Given the description of an element on the screen output the (x, y) to click on. 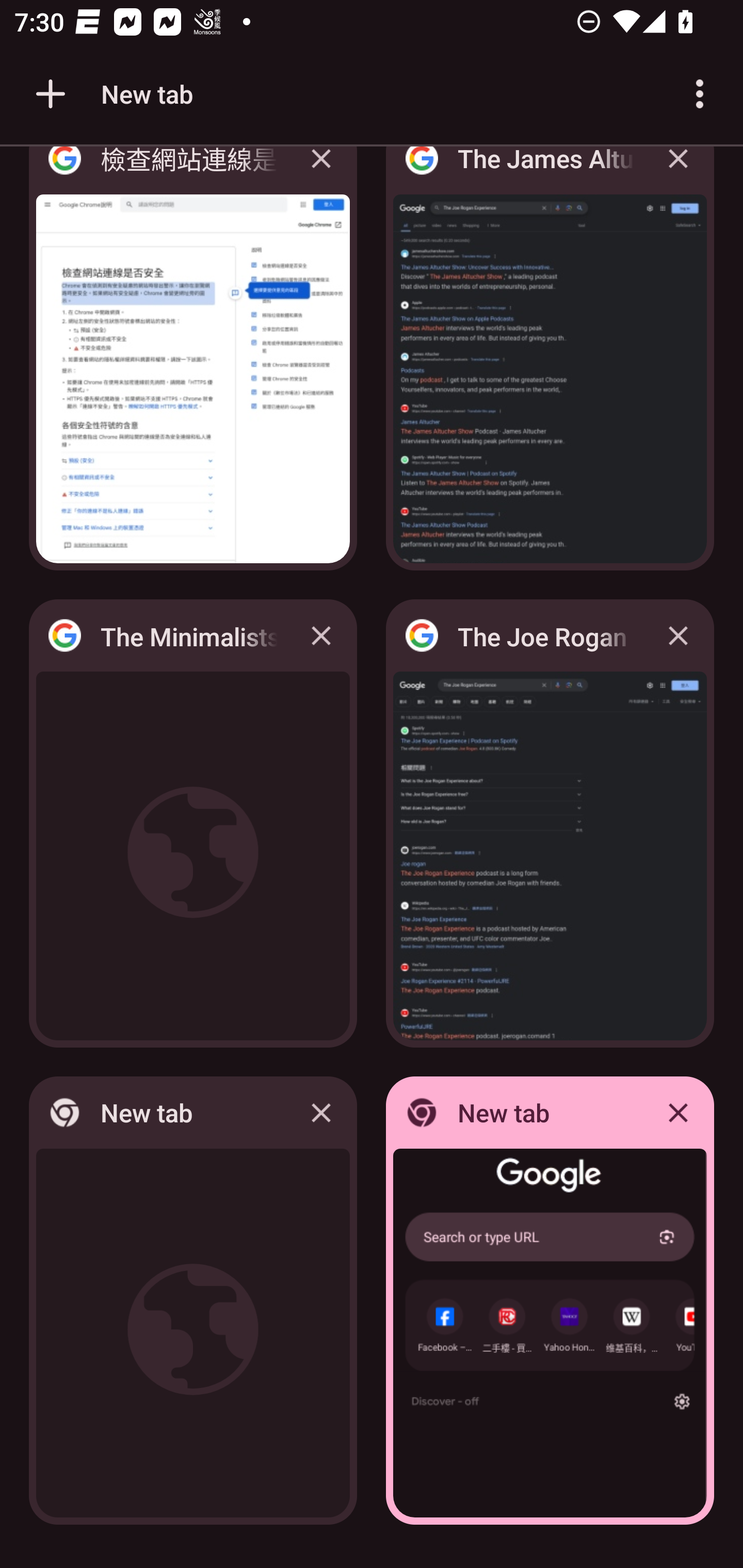
New tab (111, 93)
Customize and control Google Chrome (699, 93)
Close 檢查網站連線是否安全 - Google Chrome說明 tab (320, 173)
Close The James Altucher Show - Google Search tab (677, 173)
Close The Minimalists Podcast - Google 搜尋 tab (320, 635)
Close The Joe Rogan Experience - Google 搜尋 tab (677, 635)
New tab New tab, tab Close New tab tab (192, 1300)
New tab New tab, tab Close New tab tab (549, 1300)
Close New tab tab (320, 1112)
Close New tab tab (677, 1112)
